Given the description of an element on the screen output the (x, y) to click on. 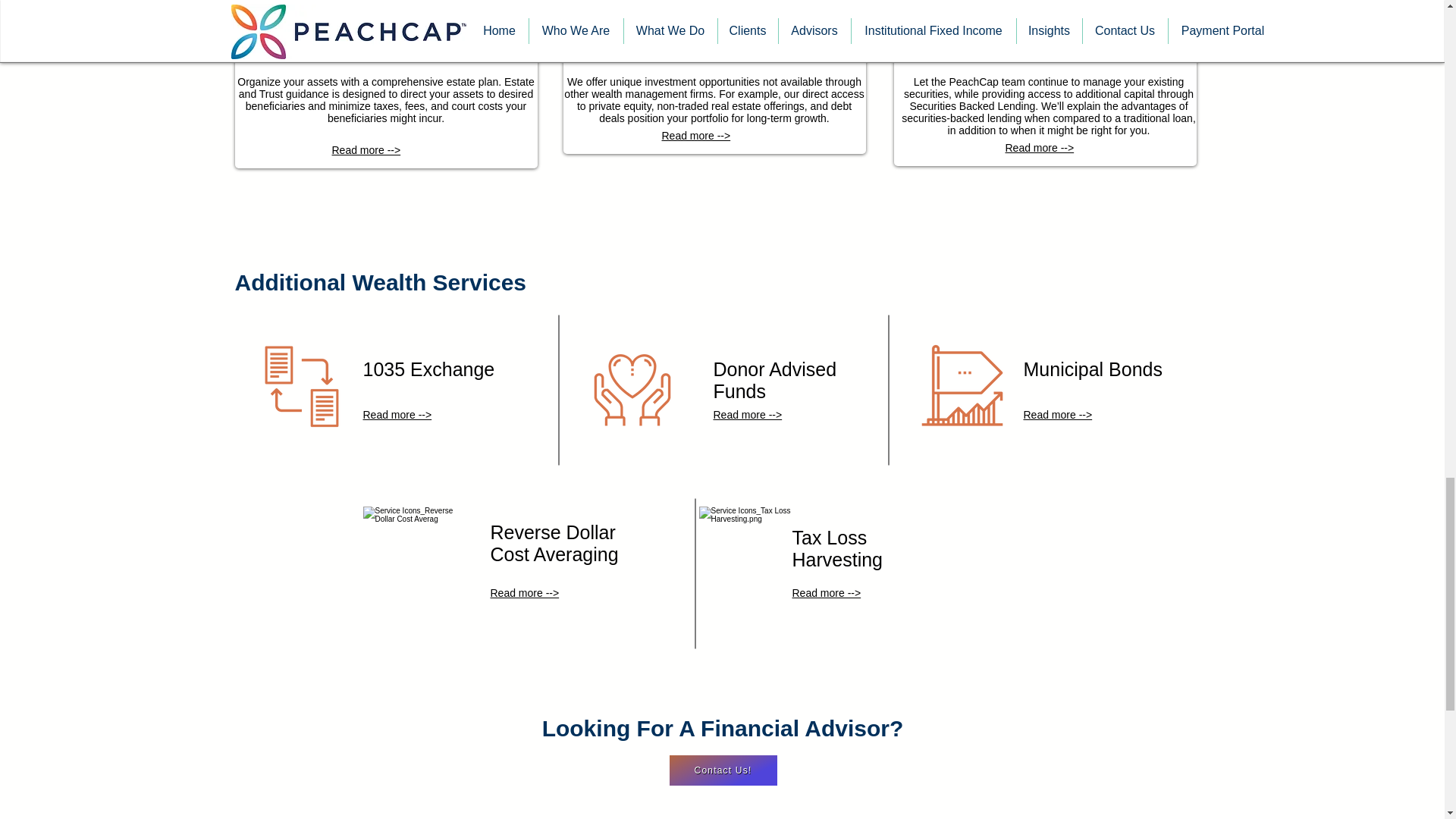
Contact Us! (722, 770)
